Given the description of an element on the screen output the (x, y) to click on. 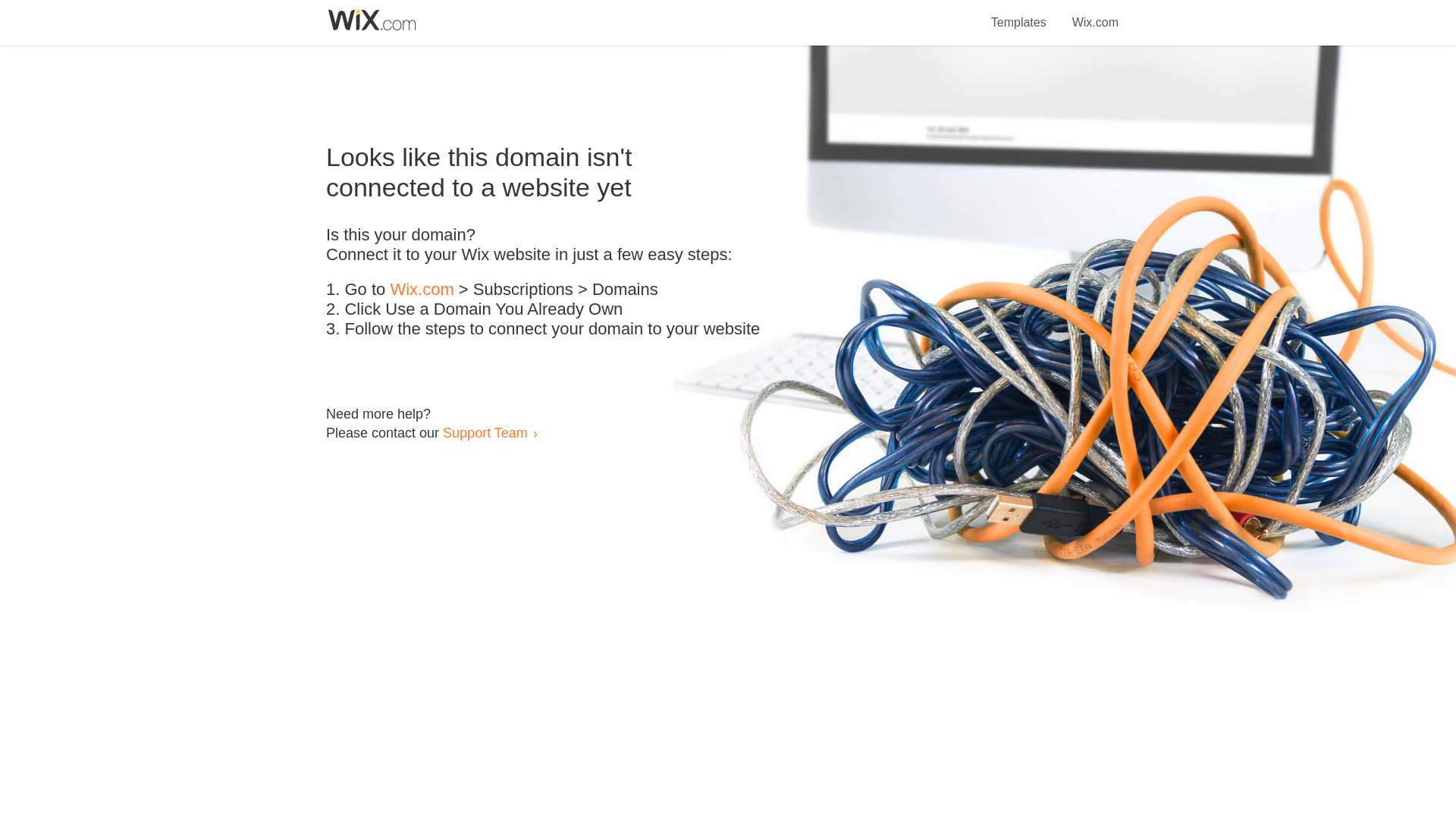
Wix.com (1095, 14)
Support Team (484, 432)
Templates (1018, 14)
Wix.com (421, 289)
